Given the description of an element on the screen output the (x, y) to click on. 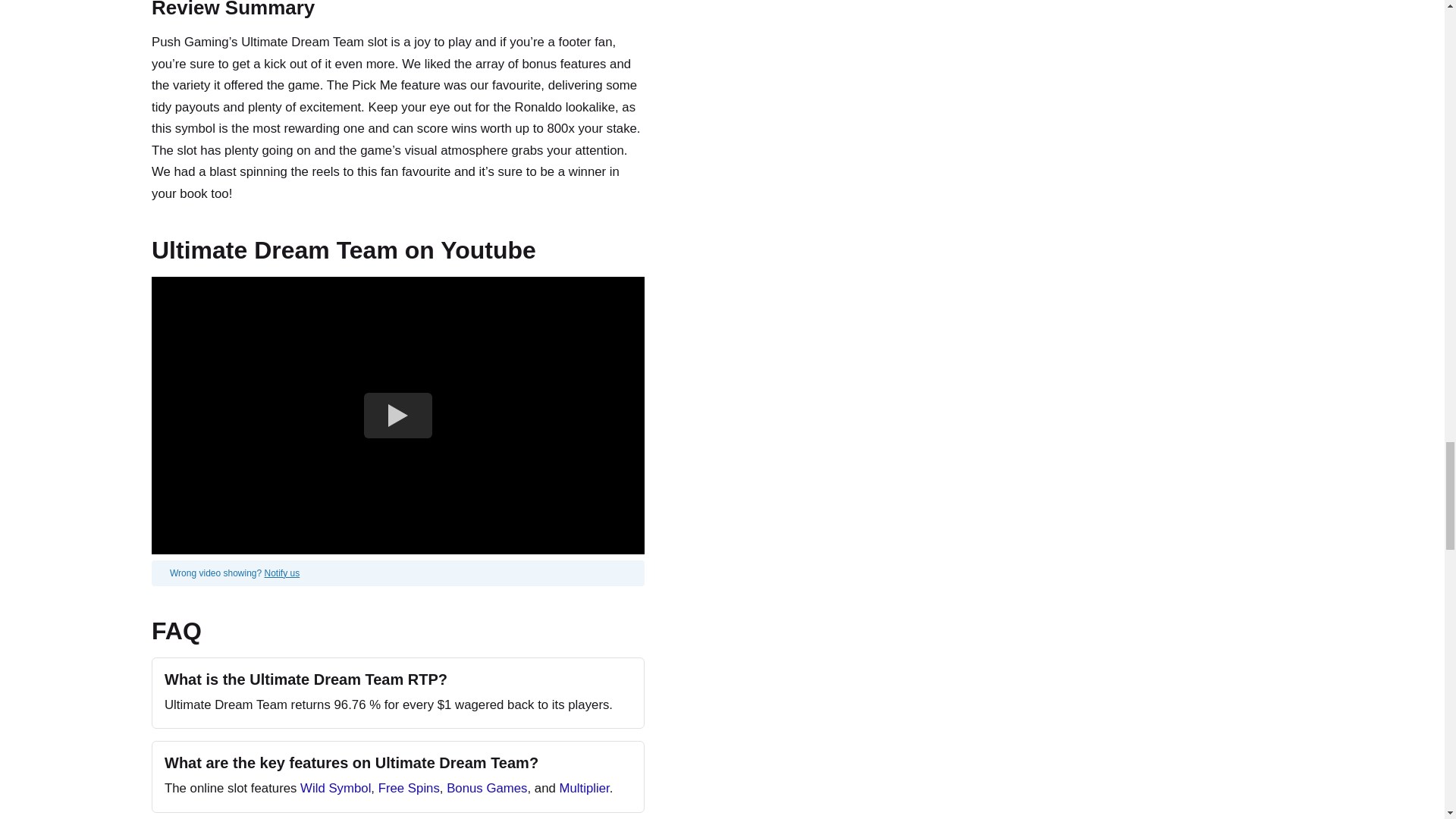
Wild Symbol (335, 788)
Notify us (281, 573)
Free Spins (408, 788)
